Given the description of an element on the screen output the (x, y) to click on. 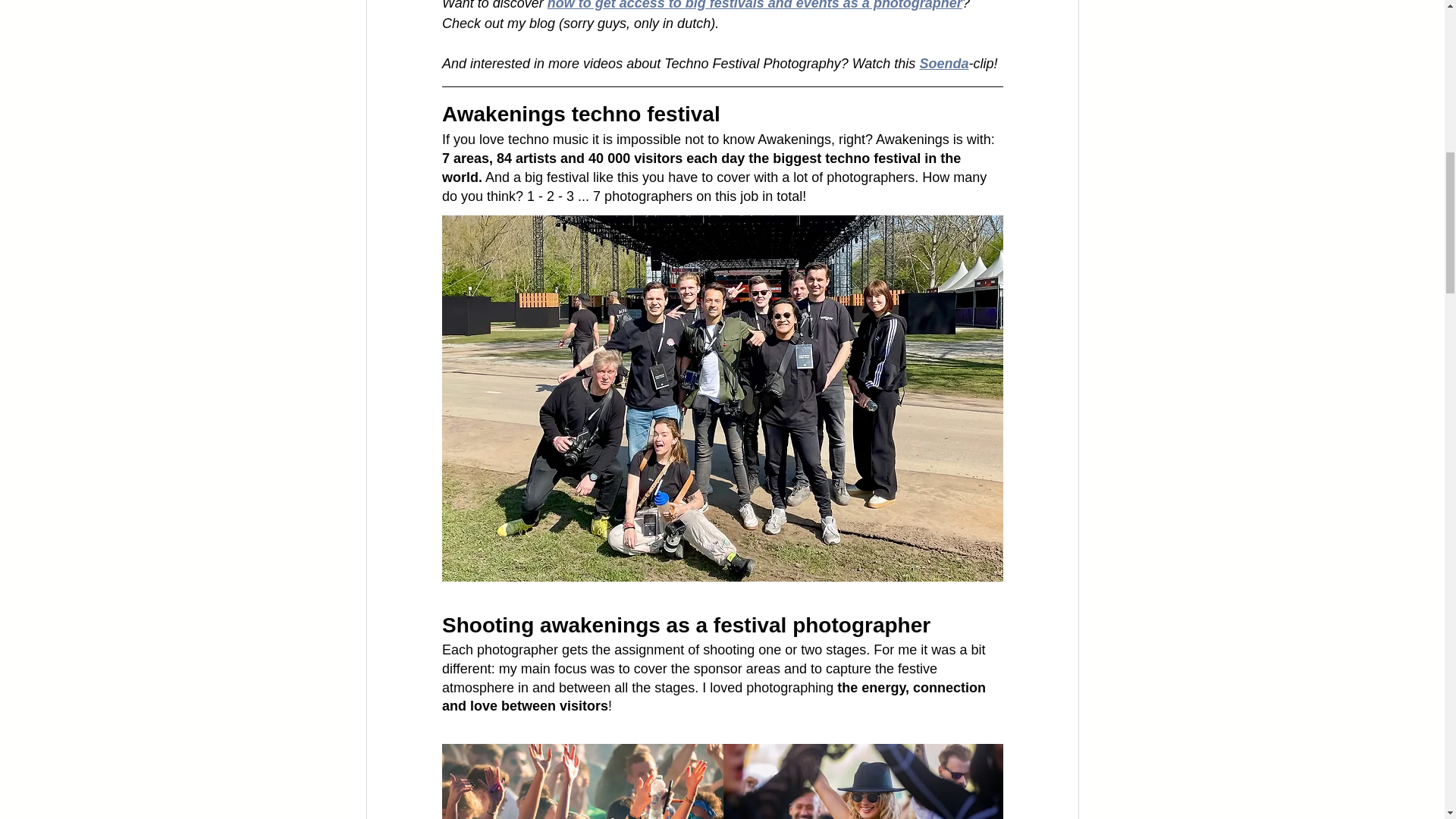
Soenda (943, 63)
